Given the description of an element on the screen output the (x, y) to click on. 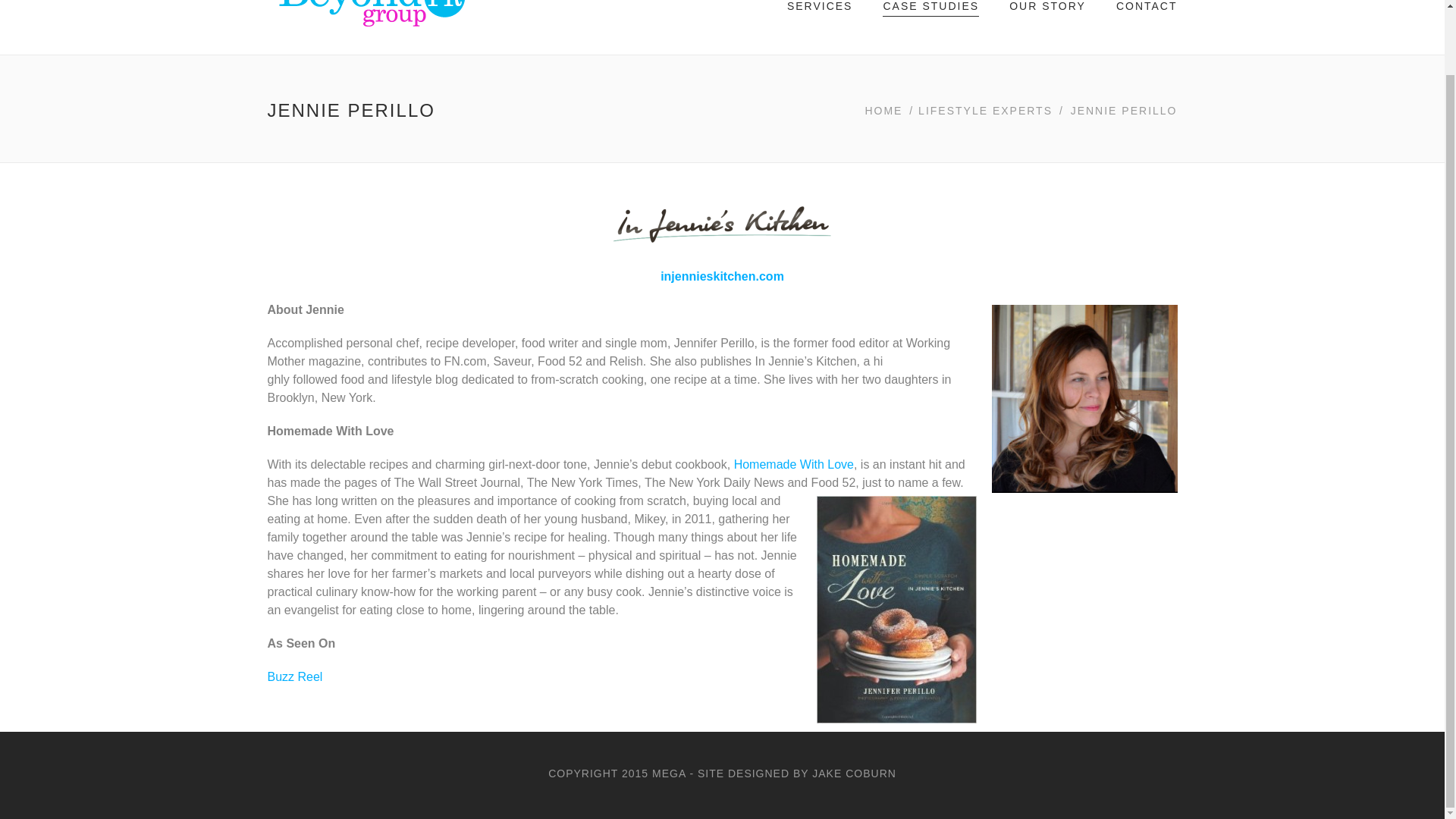
CONTACT (1146, 8)
Homemade With Love (793, 463)
injennieskitchen.com (722, 276)
SERVICES (820, 8)
LIFESTYLE EXPERTS (986, 110)
Buzz Reel (293, 676)
HOME (884, 110)
JAKE COBURN (854, 773)
CASE STUDIES (930, 8)
OUR STORY (1047, 8)
